Given the description of an element on the screen output the (x, y) to click on. 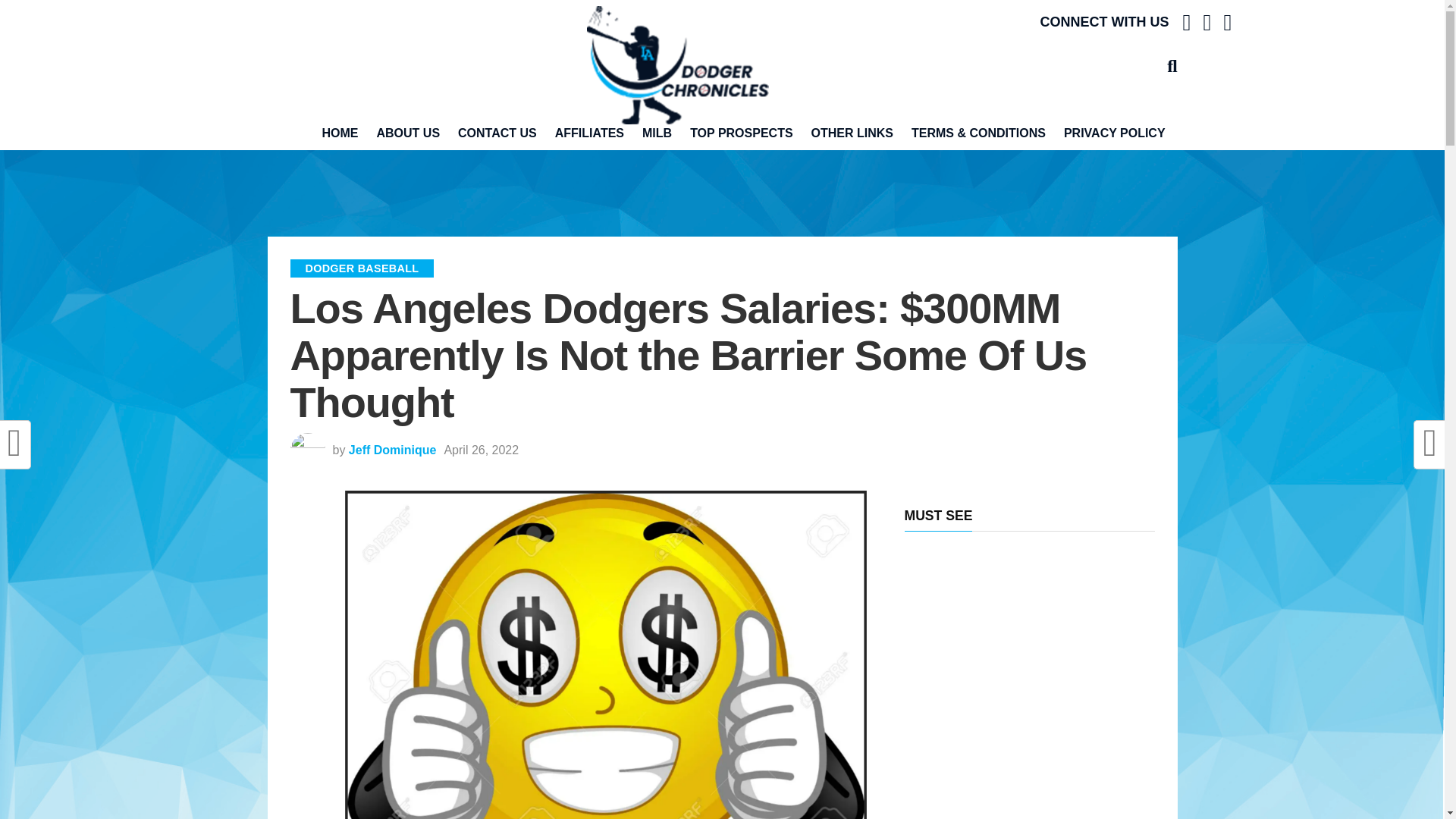
ABOUT US (407, 133)
CONTACT US (497, 133)
PRIVACY POLICY (1114, 133)
AFFILIATES (589, 133)
HOME (339, 133)
Jeff Dominique (392, 449)
Posts by Jeff Dominique (392, 449)
OTHER LINKS (852, 133)
MILB (657, 133)
TOP PROSPECTS (741, 133)
